Given the description of an element on the screen output the (x, y) to click on. 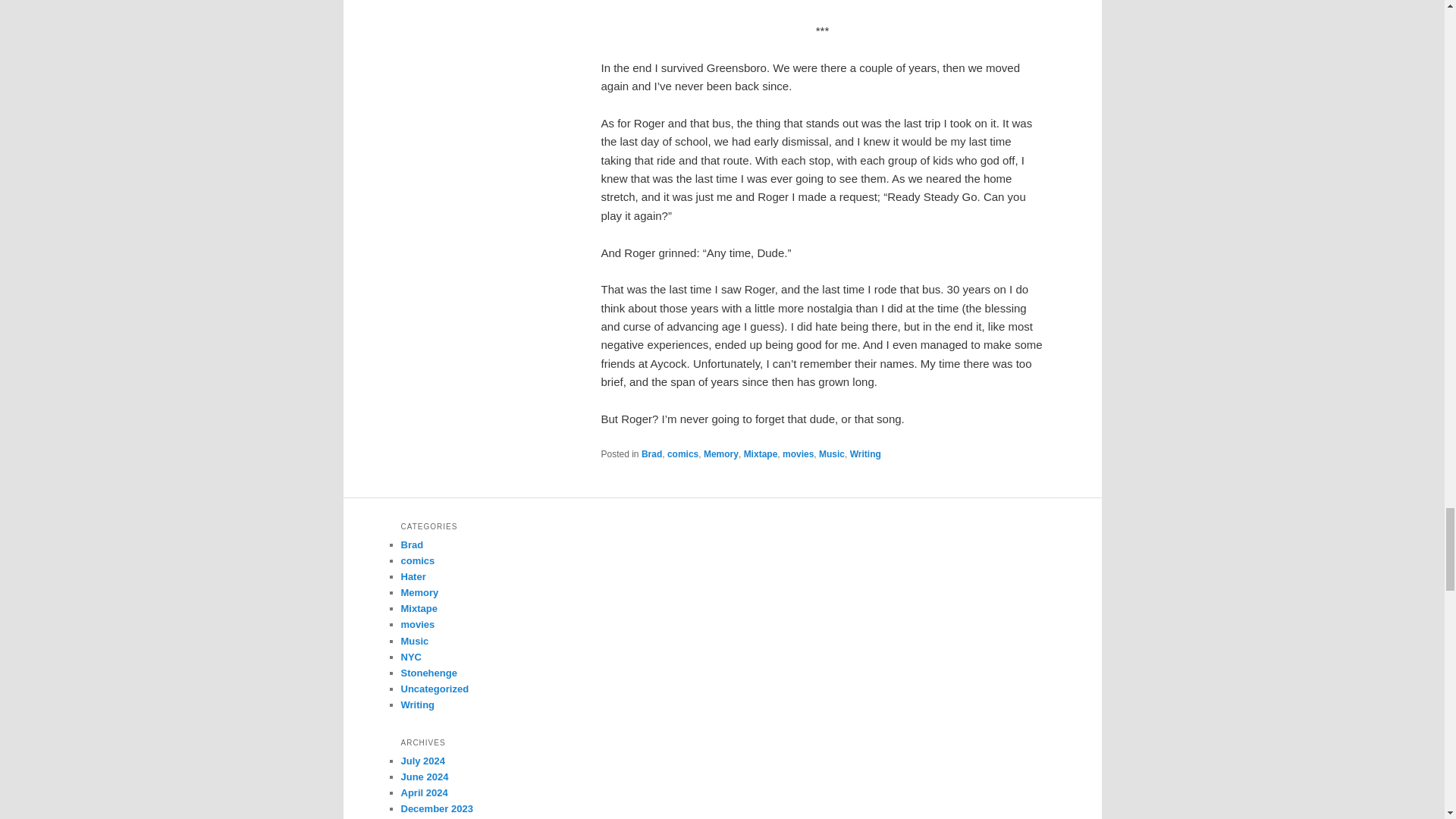
comics (682, 453)
Brad (652, 453)
Memory (720, 453)
Mixtape (760, 453)
Writing (865, 453)
movies (798, 453)
Music (831, 453)
